Given the description of an element on the screen output the (x, y) to click on. 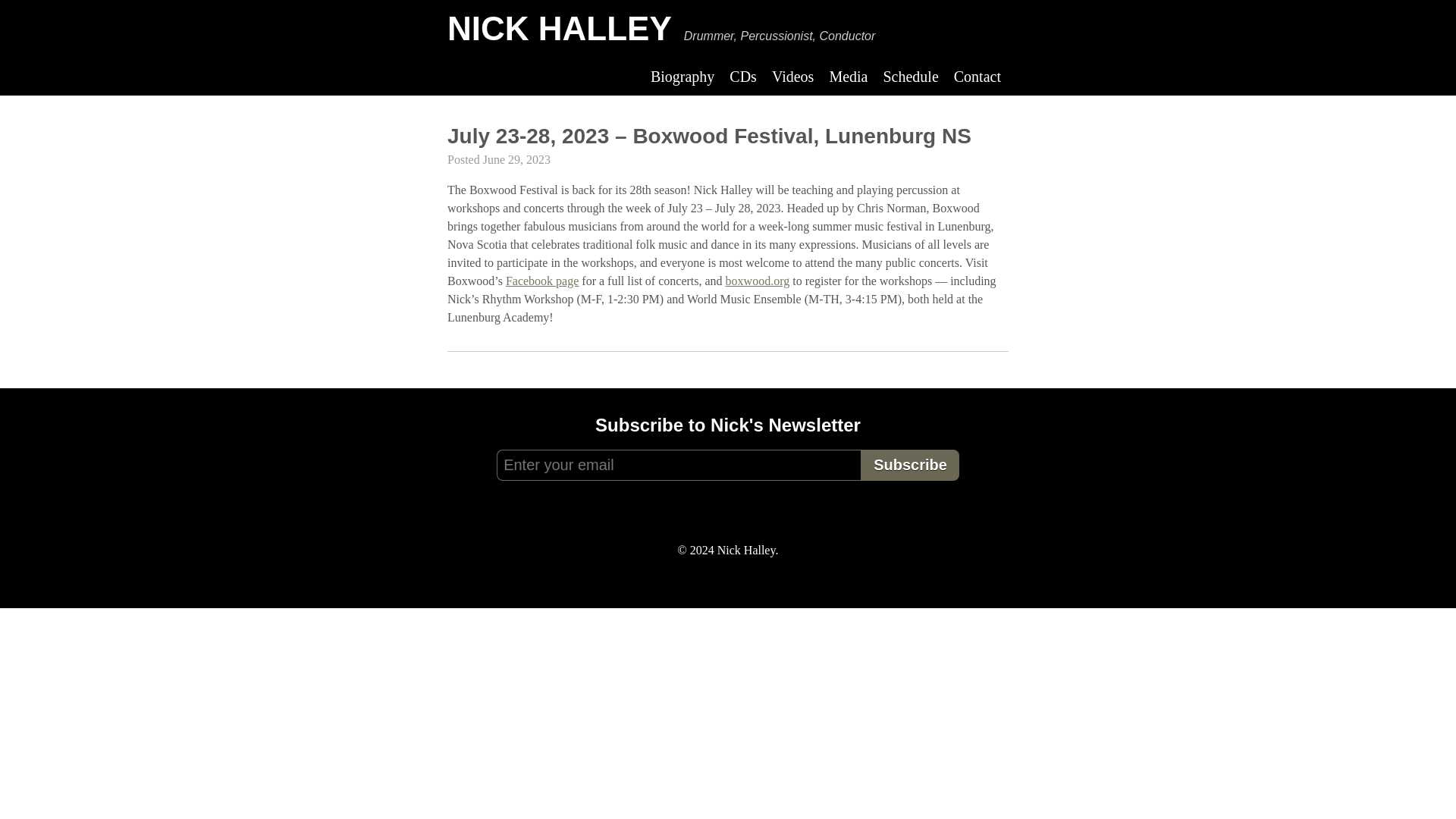
Biography (682, 76)
Schedule (909, 76)
Subscribe (909, 464)
Facebook page (541, 280)
Contact (977, 76)
NICK HALLEY (558, 27)
Subscribe (909, 464)
boxwood.org (757, 280)
Media (848, 76)
CDs (743, 76)
